Given the description of an element on the screen output the (x, y) to click on. 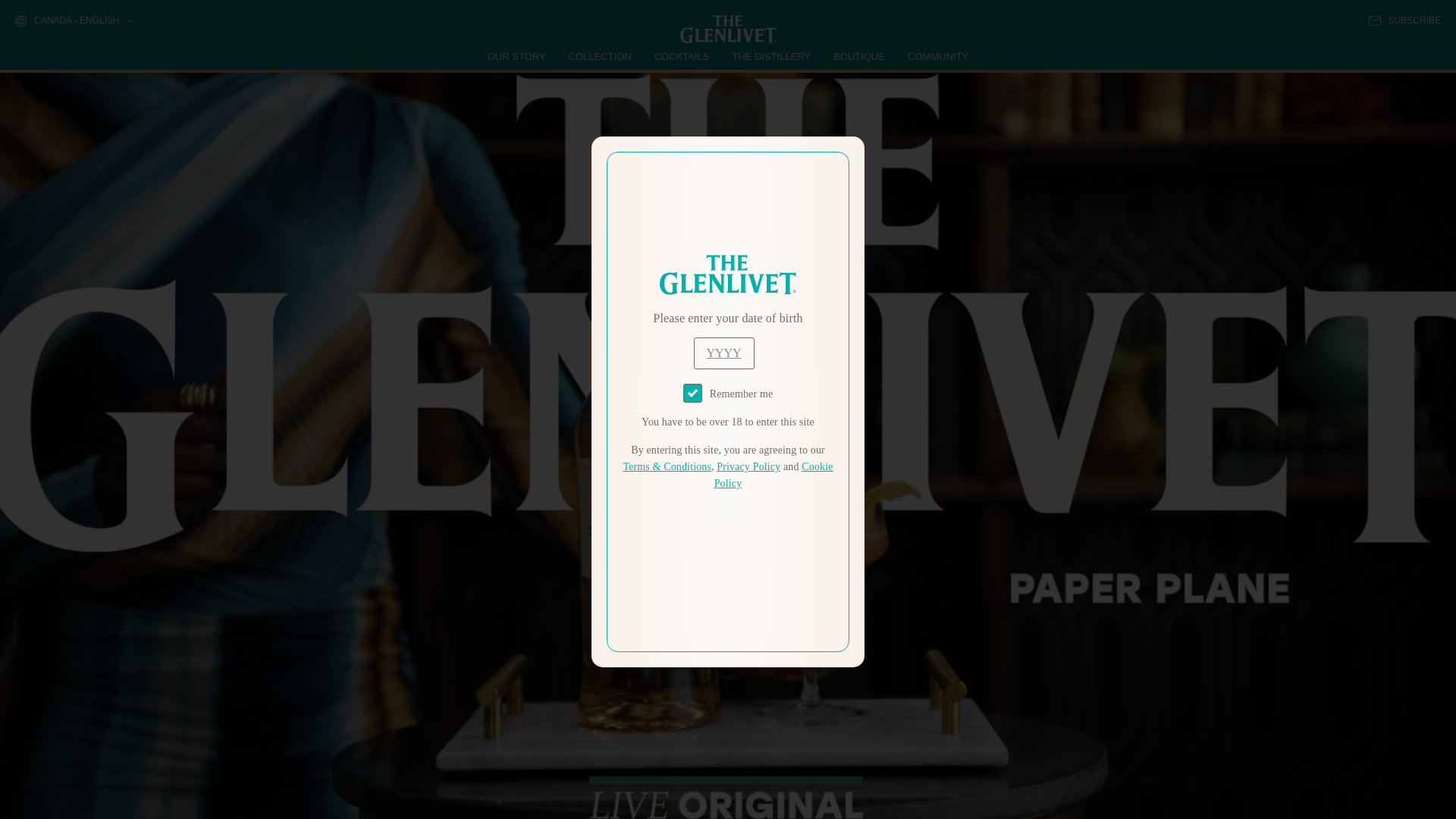
CANADA - ENGLISH (73, 21)
BOUTIQUE (858, 56)
OUR STORY (516, 56)
SUBSCRIBE (1404, 20)
COLLECTION (600, 56)
Privacy Policy (748, 466)
THE DISTILLERY (771, 56)
COCKTAILS (681, 56)
COMMUNITY (937, 56)
year (723, 353)
Cookie Policy (773, 474)
